Given the description of an element on the screen output the (x, y) to click on. 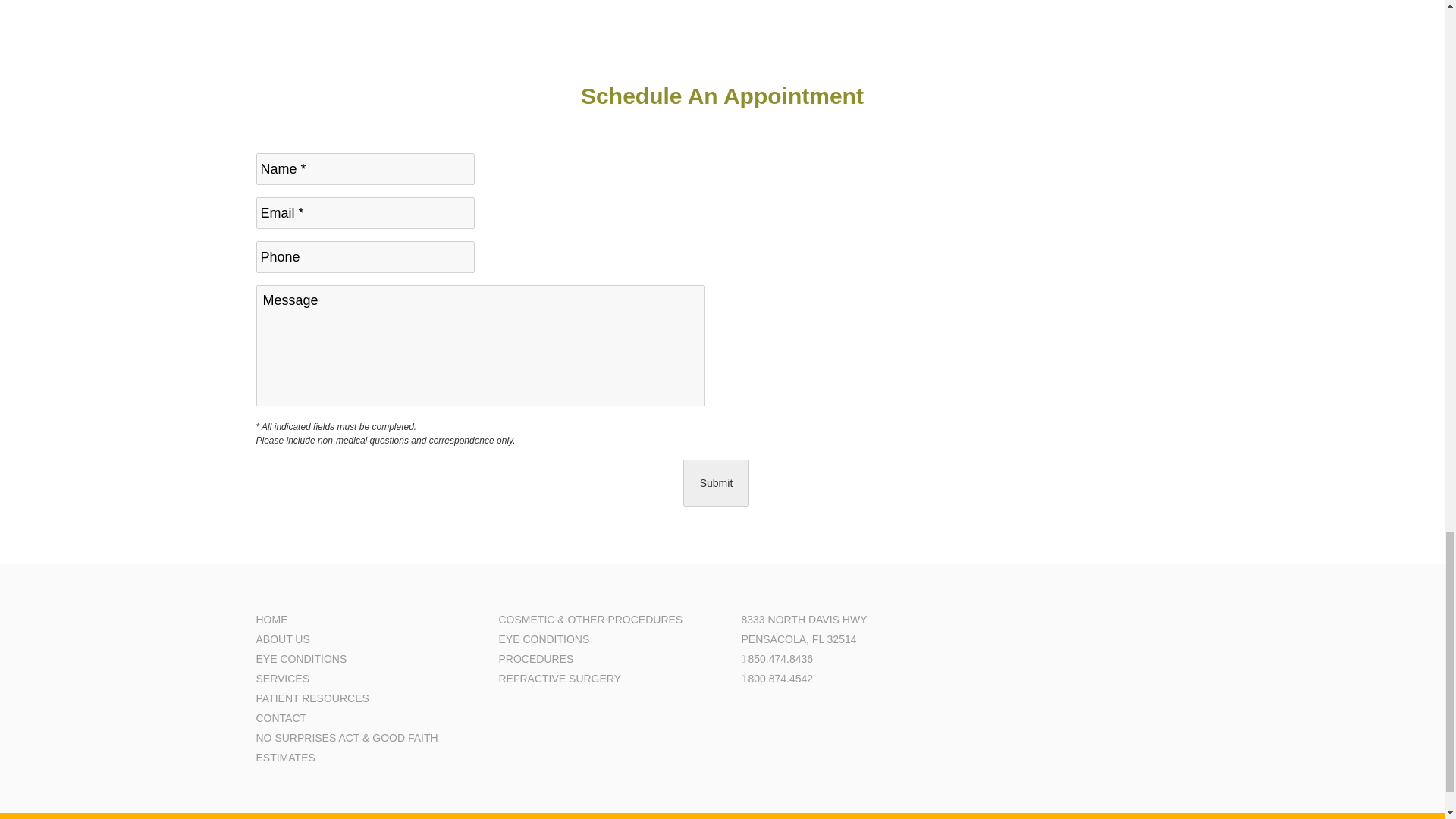
Submit (715, 482)
